Given the description of an element on the screen output the (x, y) to click on. 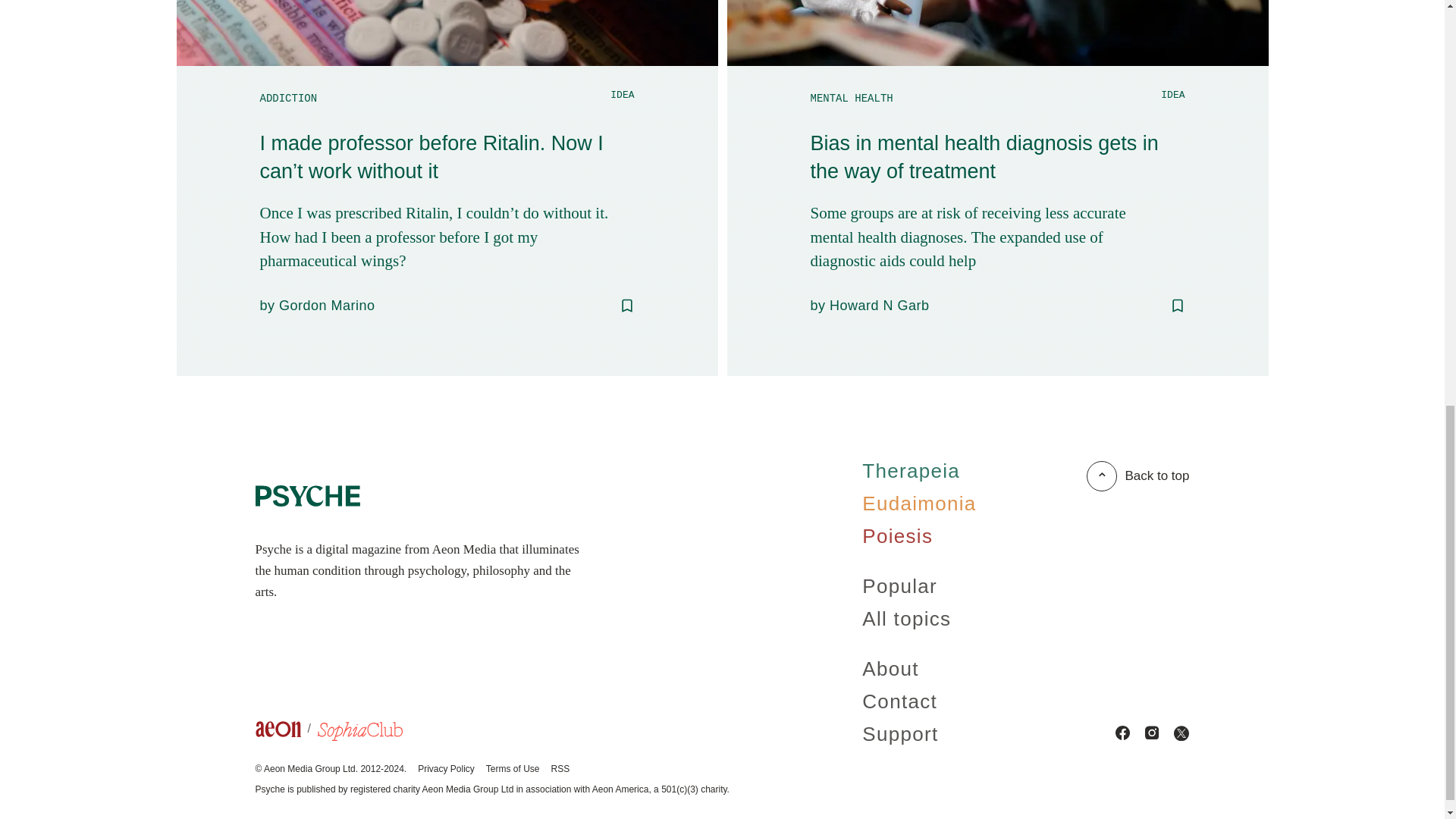
Aeon (285, 732)
Sophia Club (360, 732)
